Given the description of an element on the screen output the (x, y) to click on. 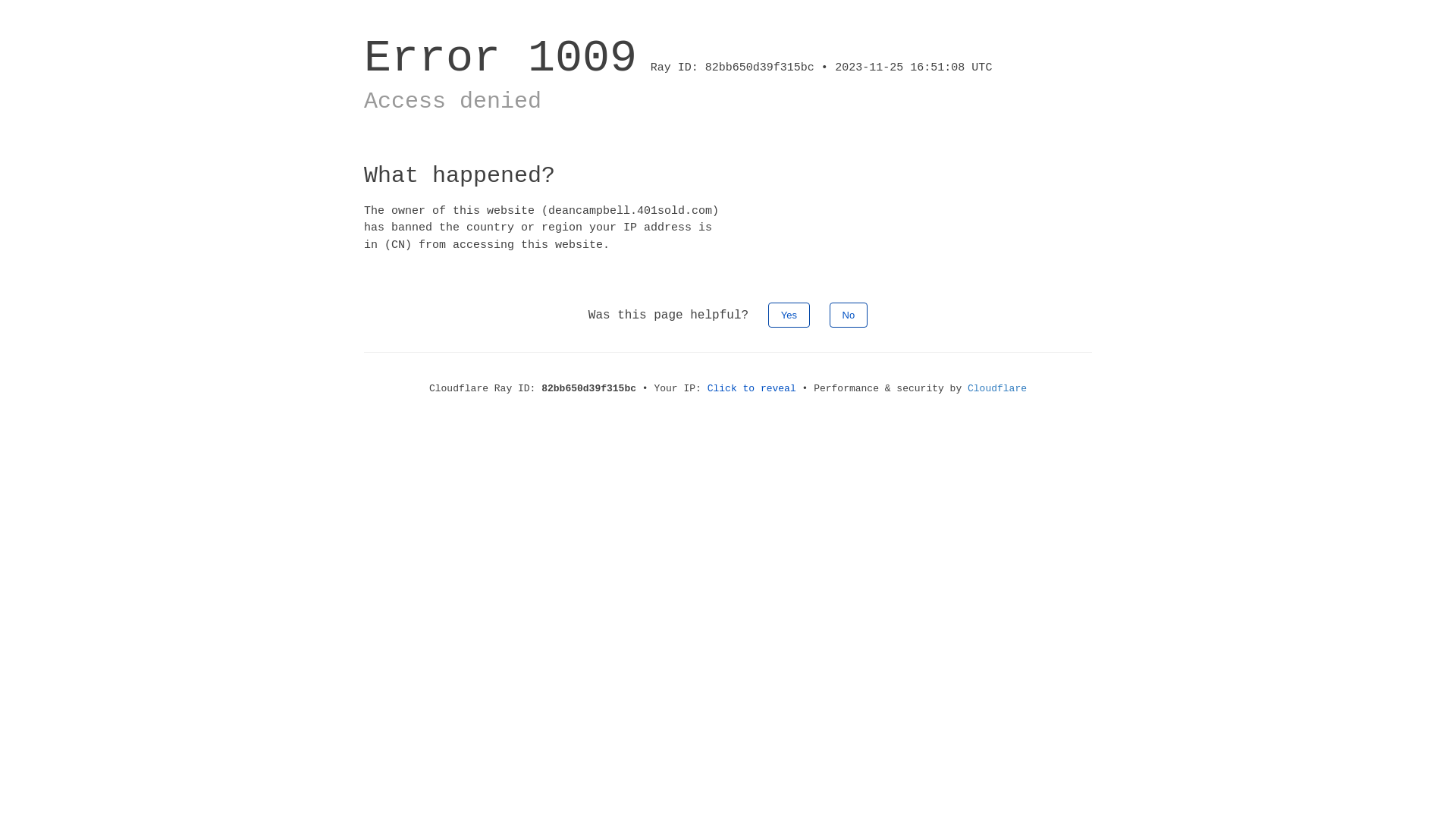
Cloudflare Element type: text (996, 388)
No Element type: text (848, 314)
Yes Element type: text (788, 314)
Click to reveal Element type: text (751, 388)
